Given the description of an element on the screen output the (x, y) to click on. 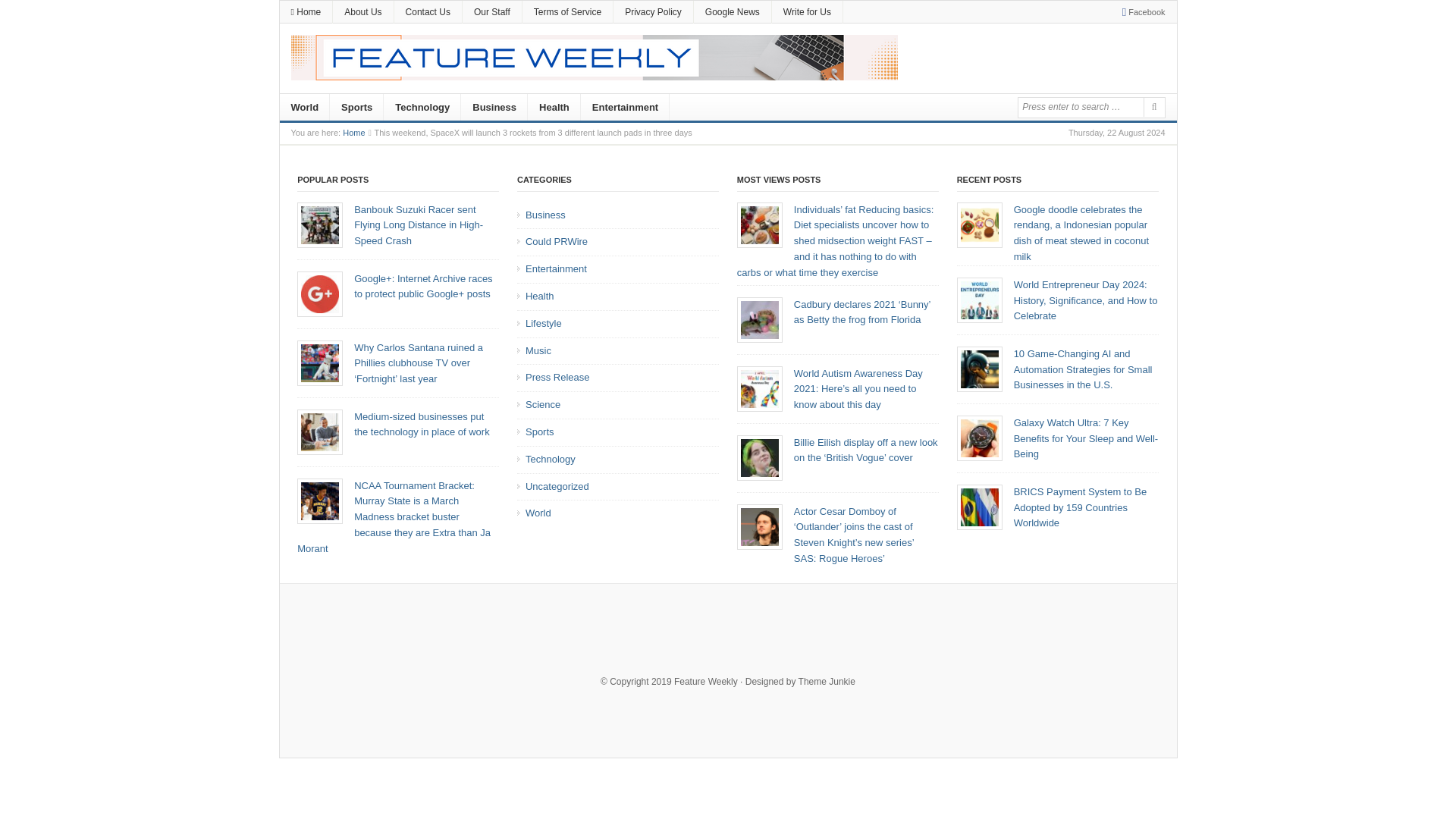
Technology (422, 108)
Sports (357, 108)
Business (494, 108)
Facebook (1140, 11)
Privacy Policy (652, 11)
Our Staff (492, 11)
Health (553, 108)
Search for: (1078, 106)
Entertainment (624, 108)
Contact Us (427, 11)
